Given the description of an element on the screen output the (x, y) to click on. 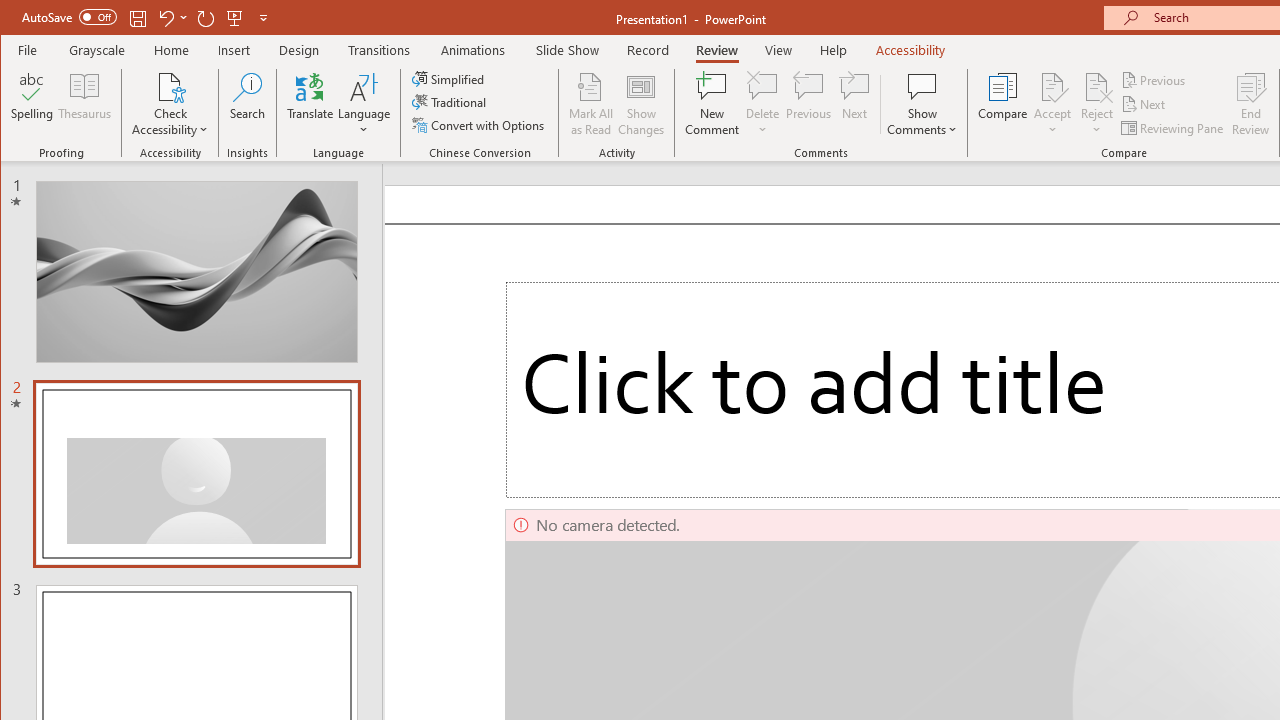
Grayscale (97, 50)
Thesaurus... (84, 104)
Previous (1154, 80)
